Given the description of an element on the screen output the (x, y) to click on. 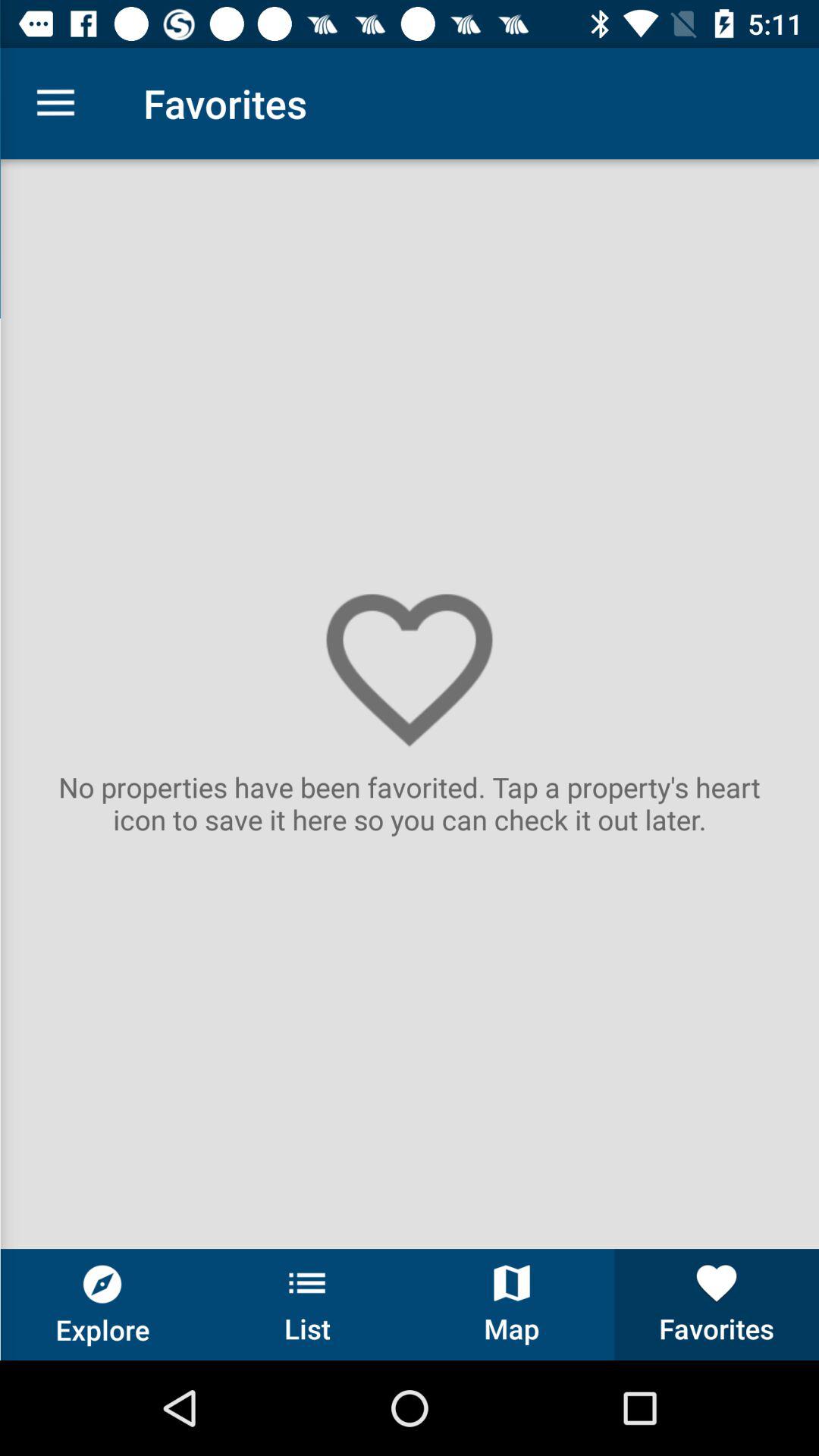
select icon next to the favorites button (511, 1304)
